Given the description of an element on the screen output the (x, y) to click on. 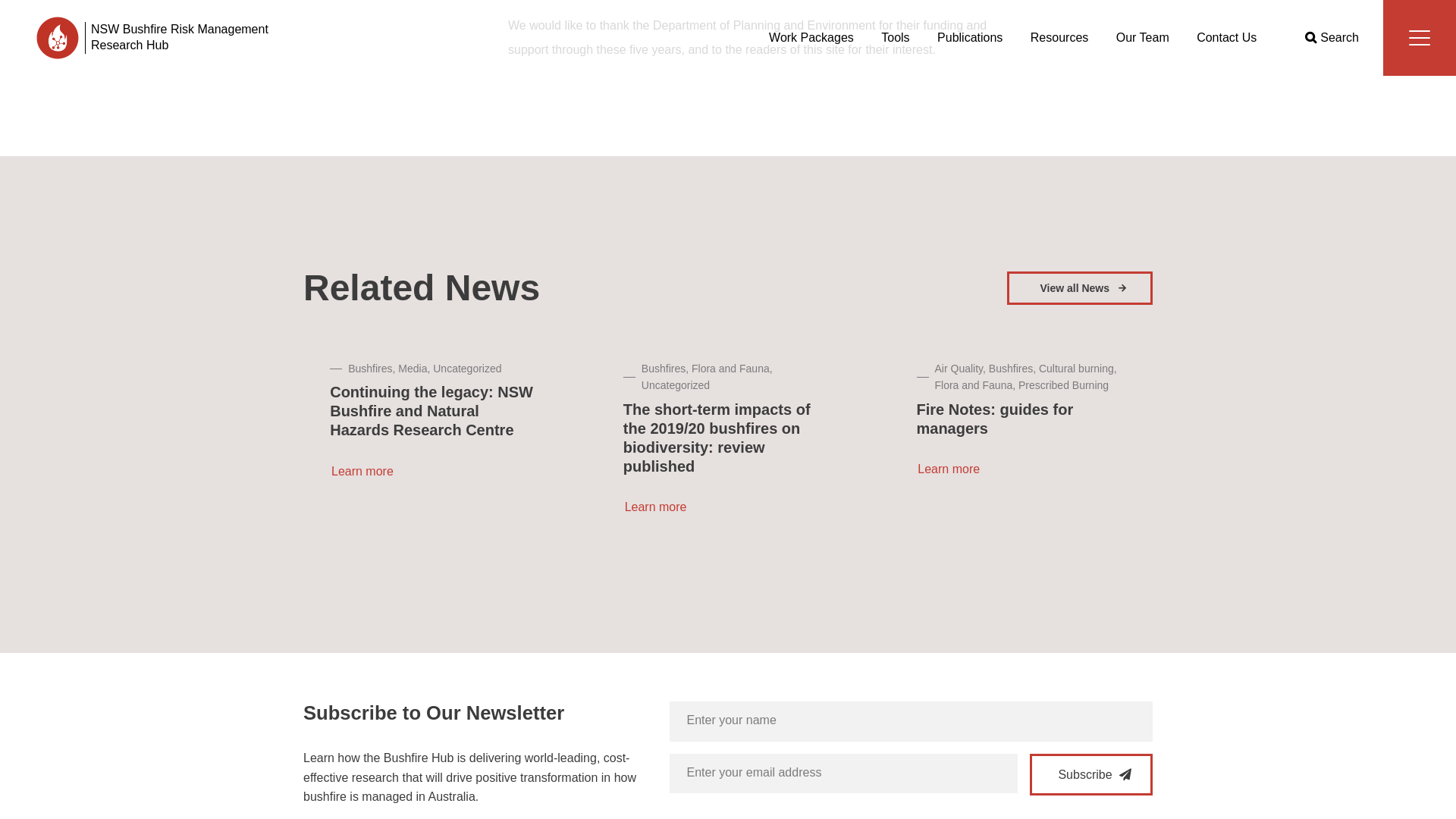
Subscribe (1091, 774)
View all News (1080, 287)
Subscribe (1091, 774)
